Given the description of an element on the screen output the (x, y) to click on. 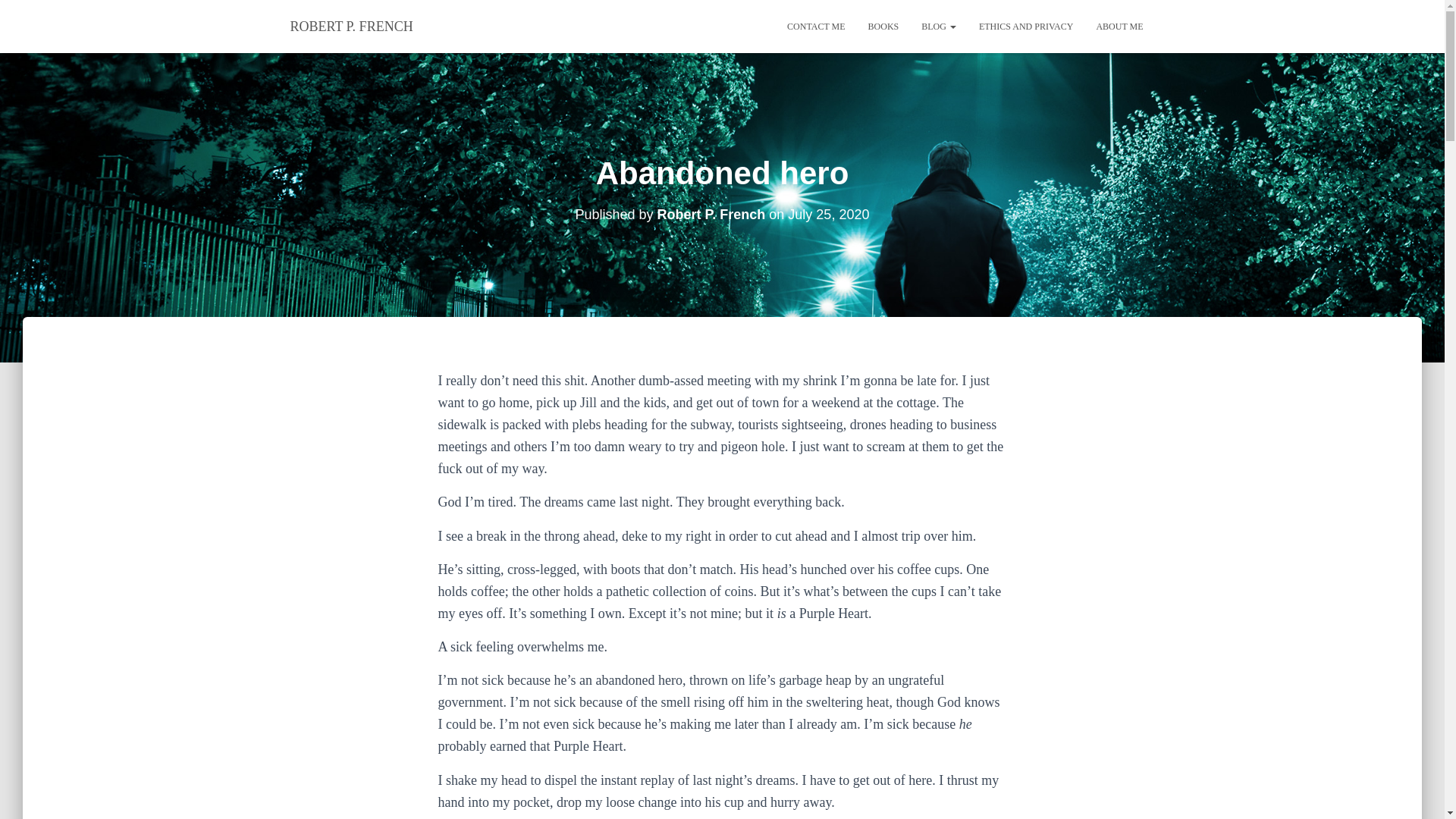
Ethics and Privacy (1026, 26)
Blog (939, 26)
About me (1119, 26)
CONTACT ME (816, 26)
BOOKS (884, 26)
Robert P. French (711, 214)
Books (884, 26)
ROBERT P. FRENCH (352, 26)
ABOUT ME (1119, 26)
ETHICS AND PRIVACY (1026, 26)
ROBERT P. FRENCH (352, 26)
BLOG (939, 26)
CONTACT ME (816, 26)
